Given the description of an element on the screen output the (x, y) to click on. 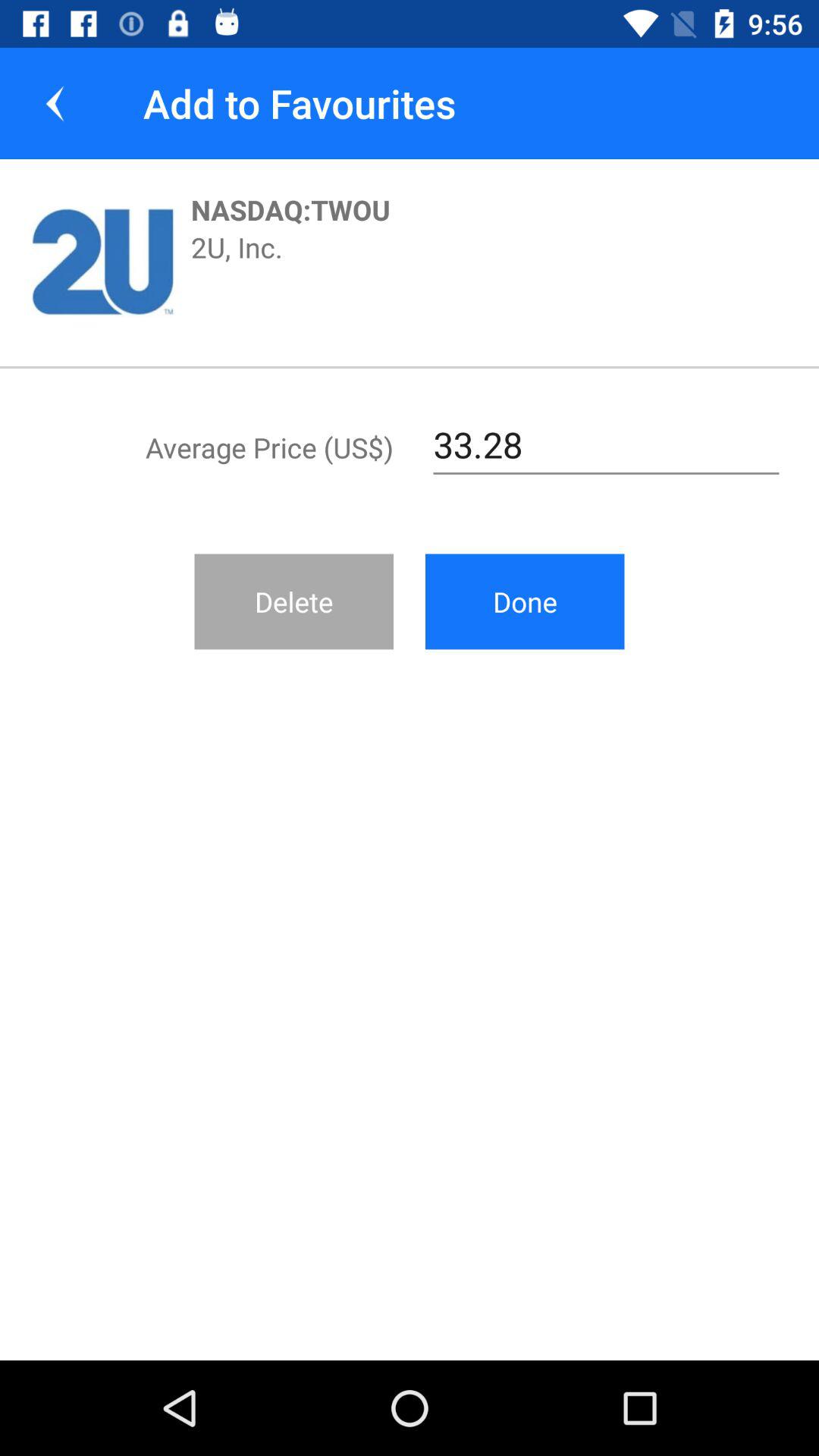
launch done (524, 601)
